Given the description of an element on the screen output the (x, y) to click on. 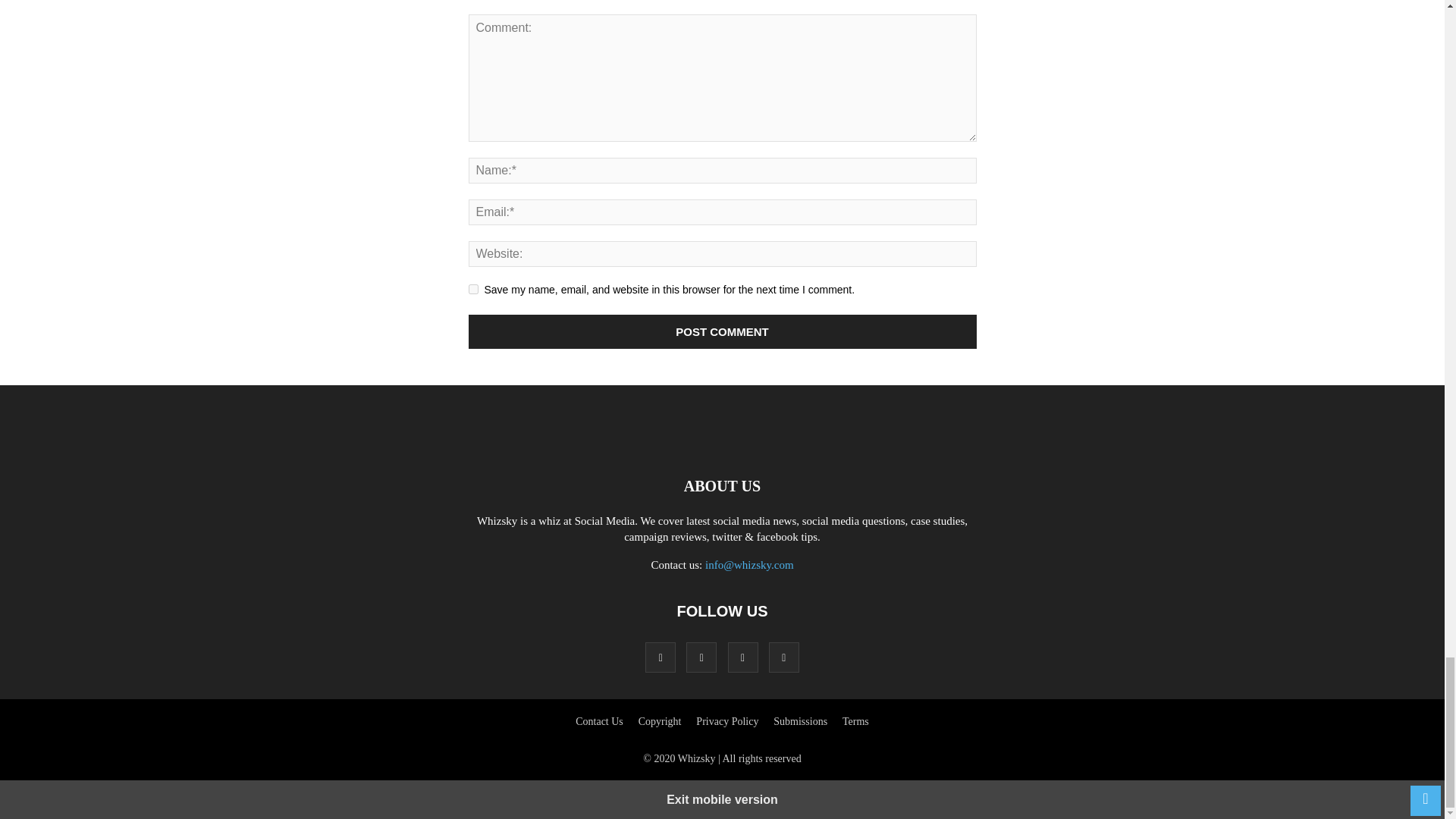
yes (473, 289)
Post Comment (722, 331)
Post Comment (722, 331)
